Given the description of an element on the screen output the (x, y) to click on. 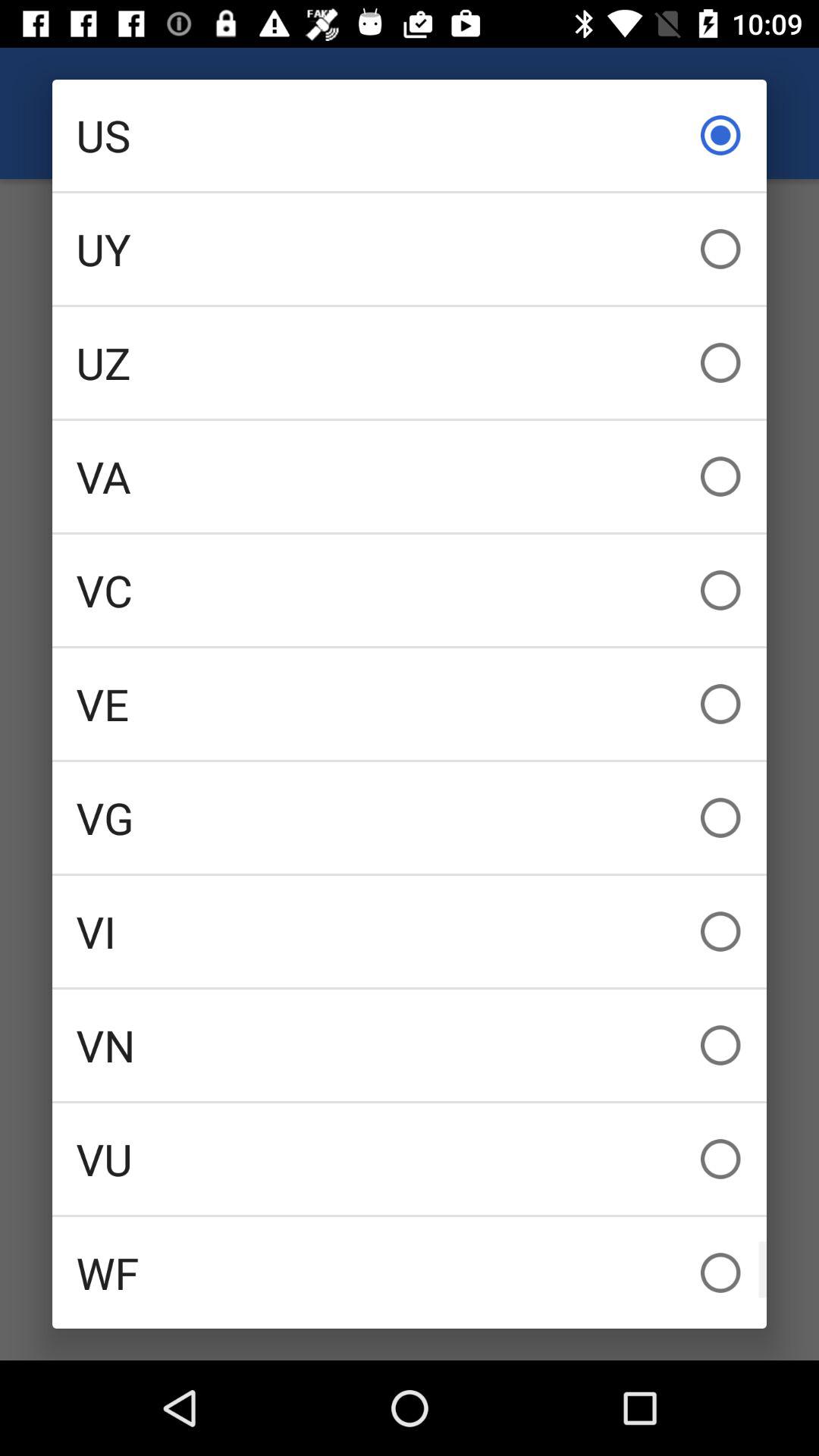
choose icon below the uz checkbox (409, 476)
